Given the description of an element on the screen output the (x, y) to click on. 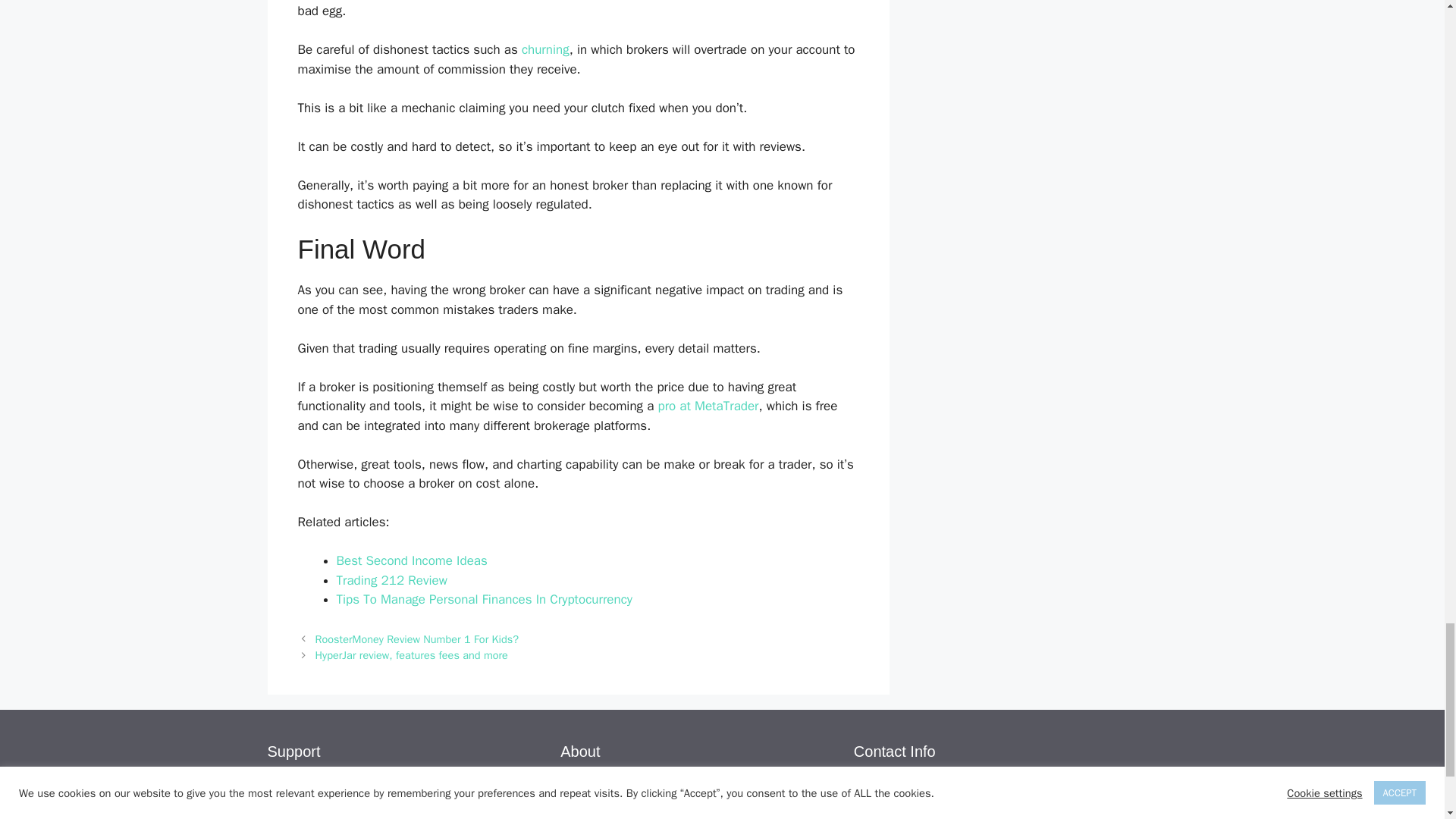
Best Second Income Ideas (411, 560)
Trading 212 Review (391, 580)
Tips To Manage Personal Finances In Cryptocurrency  (486, 599)
Disclaimer (296, 795)
RoosterMoney Review Number 1 For Kids? (416, 639)
Terms Of Service (314, 816)
HyperJar review, features fees and more (411, 654)
pro at MetaTrader (708, 406)
churning (545, 49)
